Given the description of an element on the screen output the (x, y) to click on. 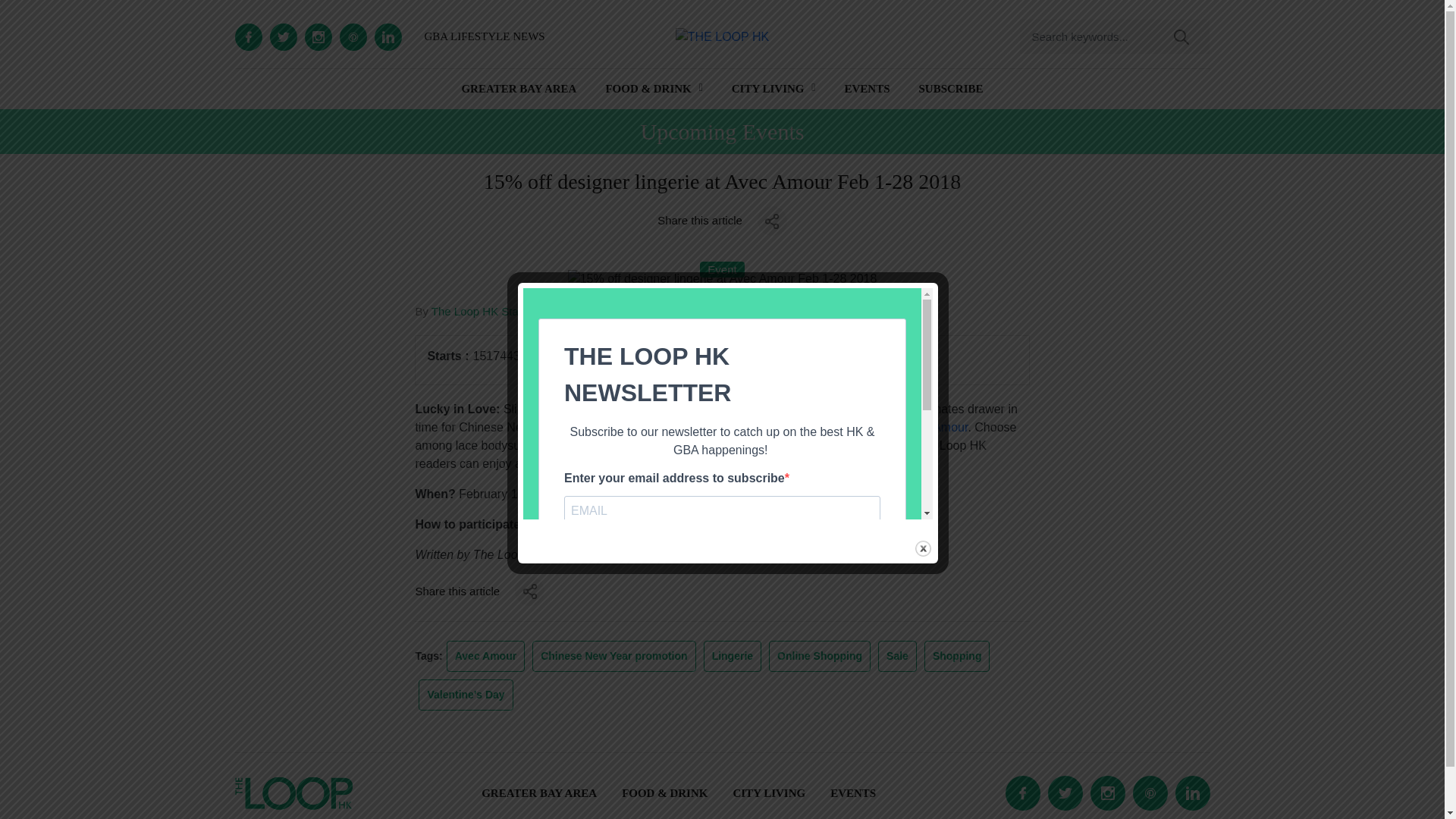
EVENTS (866, 88)
EVENTS (852, 793)
Sale (897, 656)
GREATER BAY AREA (518, 88)
Event (721, 269)
Close (923, 547)
Online Shopping (820, 656)
GREATER BAY AREA (538, 793)
Avec Amour (935, 427)
Chinese New Year promotion (613, 656)
The Loop HK Staff (477, 310)
Valentine's Day (465, 694)
SUBSCRIBE (951, 88)
CITY LIVING (768, 88)
CITY LIVING (768, 793)
